Given the description of an element on the screen output the (x, y) to click on. 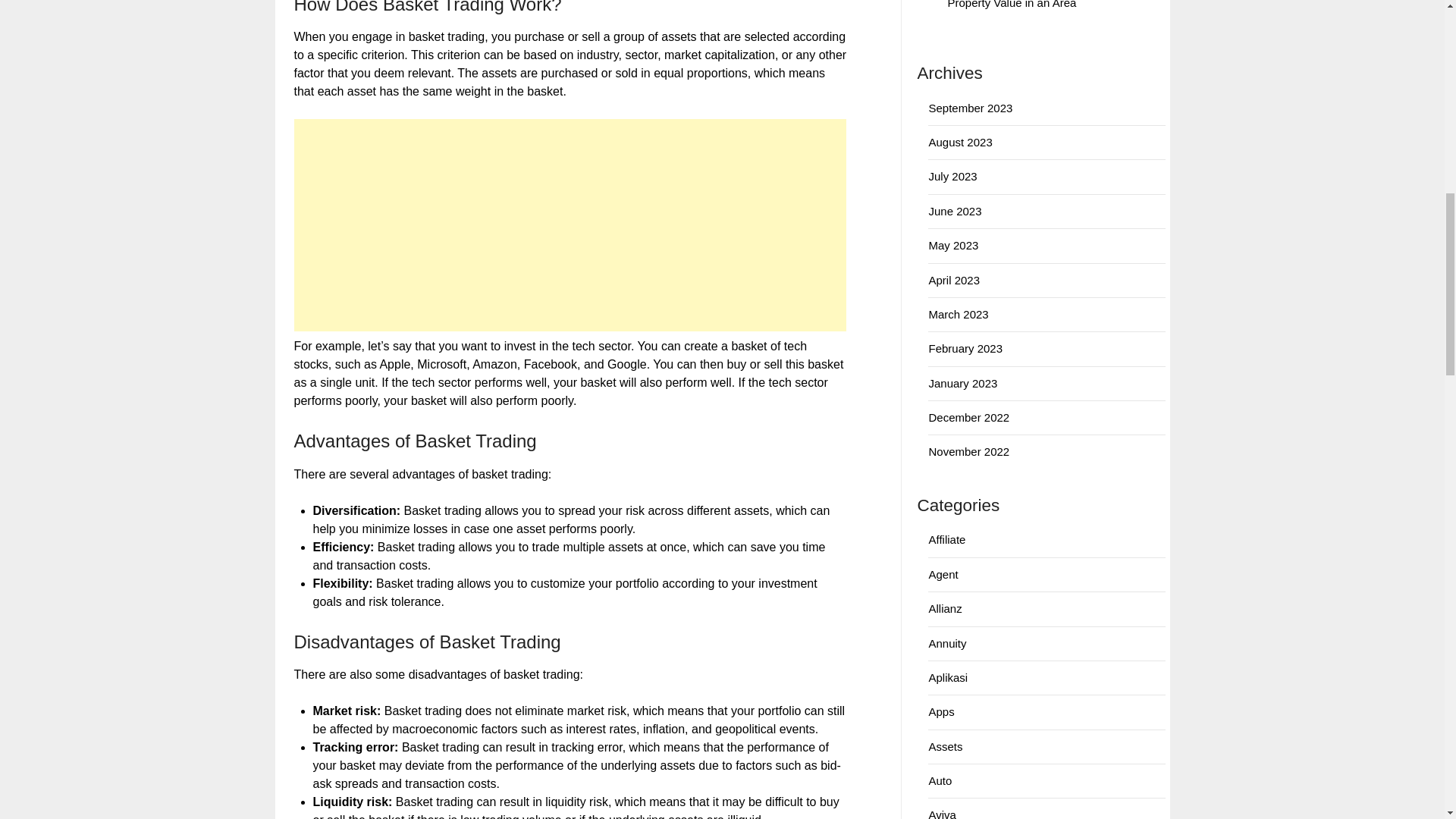
August 2023 (959, 141)
February 2023 (965, 348)
November 2022 (968, 451)
March 2023 (958, 314)
January 2023 (962, 382)
Allianz (944, 608)
Affiliate (946, 539)
June 2023 (954, 210)
How to Calculate Property Value in an Area (1029, 4)
September 2023 (969, 107)
